Given the description of an element on the screen output the (x, y) to click on. 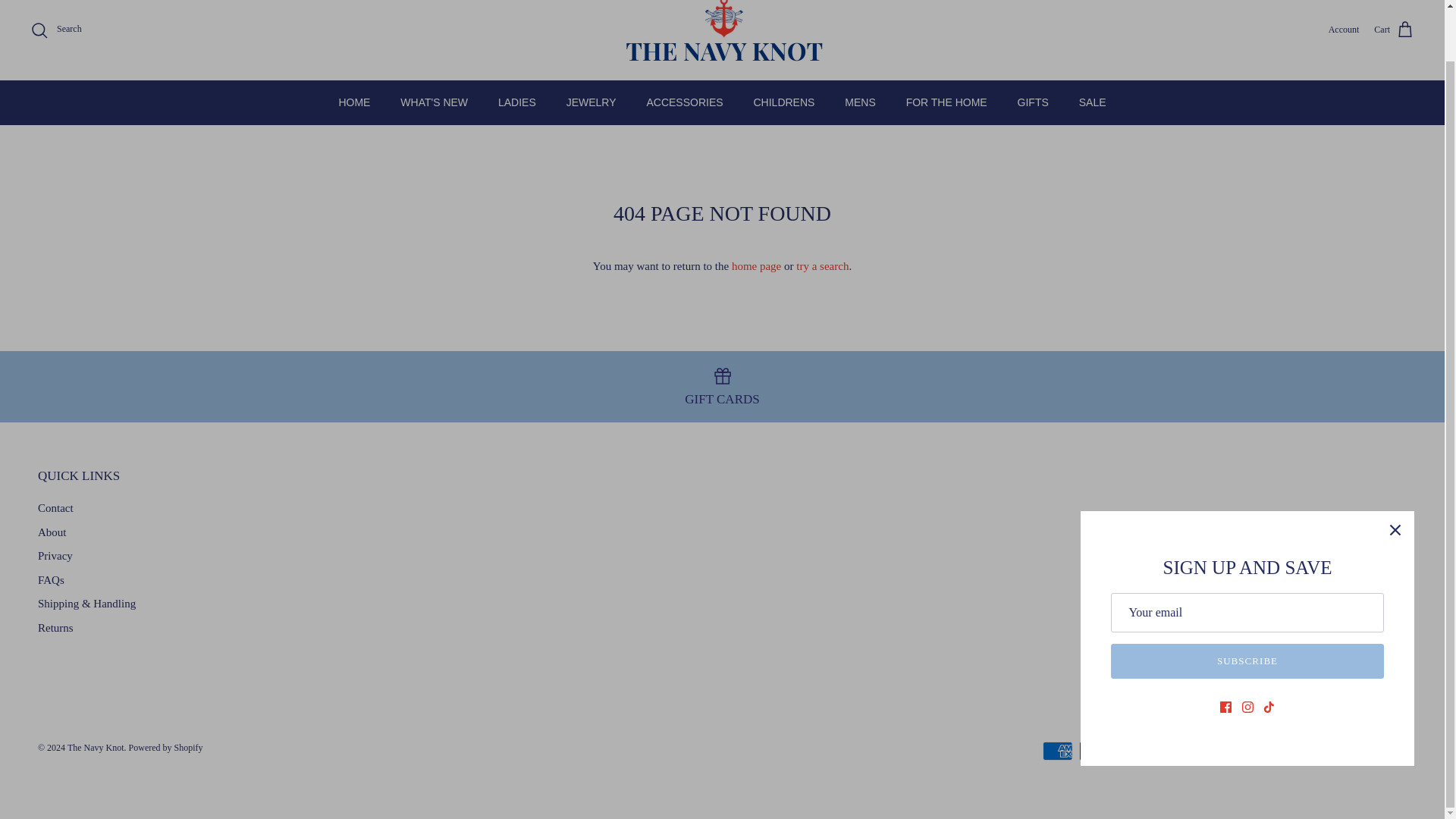
Apple Pay (1094, 751)
Shop Pay (1315, 751)
Discover (1168, 751)
Diners Club (1130, 751)
JEWELRY (591, 102)
Visa (1388, 751)
The Navy Knot (722, 32)
LADIES (517, 102)
HOME (354, 102)
Mastercard (1241, 751)
Search (55, 30)
Meta Pay (1205, 751)
ACCESSORIES (683, 102)
American Express (1057, 751)
WHAT'S NEW (434, 102)
